Given the description of an element on the screen output the (x, y) to click on. 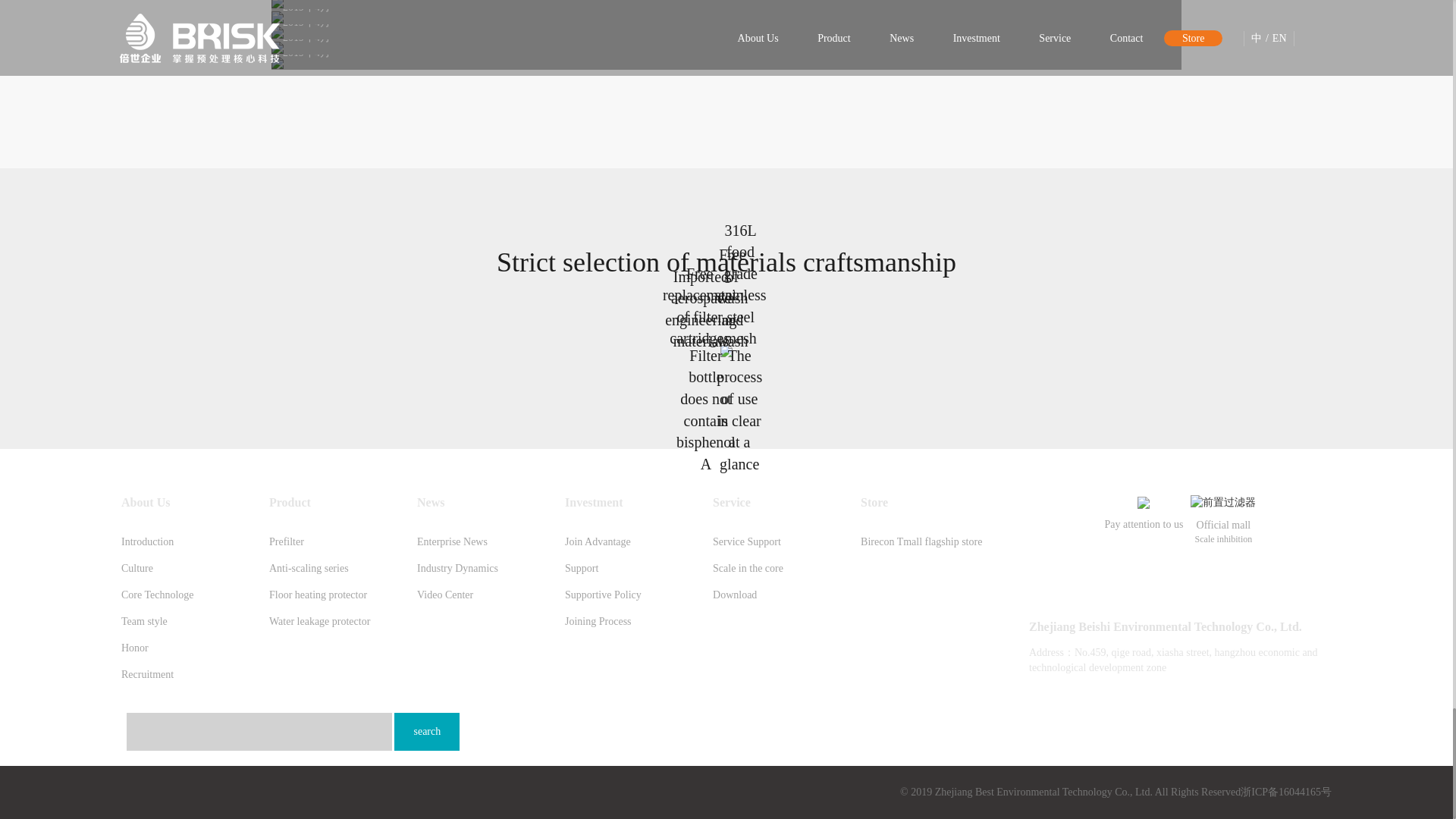
search (427, 731)
search (427, 731)
